Given the description of an element on the screen output the (x, y) to click on. 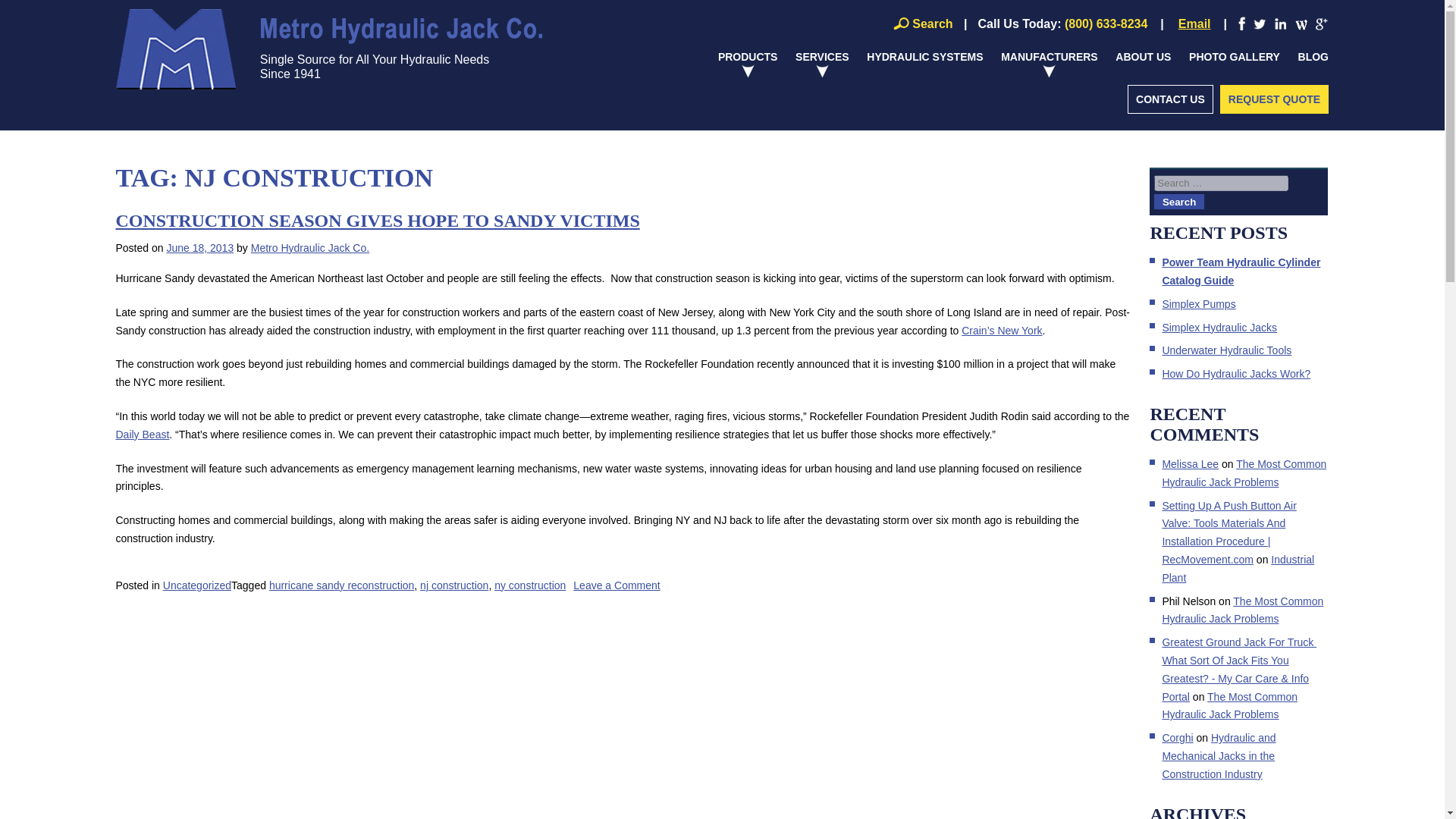
Search (920, 23)
PRODUCTS (747, 71)
Search (1179, 201)
Email (1194, 23)
GooglePlus (1321, 24)
Metro Hydraulic Jack Co. (328, 50)
LinkedIn (1280, 24)
Email (1194, 23)
Facebook (1241, 23)
Twitter (328, 50)
Metro Hydraulic Jack Co. (1259, 24)
WordPress (328, 49)
Search (1301, 24)
Search (900, 23)
